Given the description of an element on the screen output the (x, y) to click on. 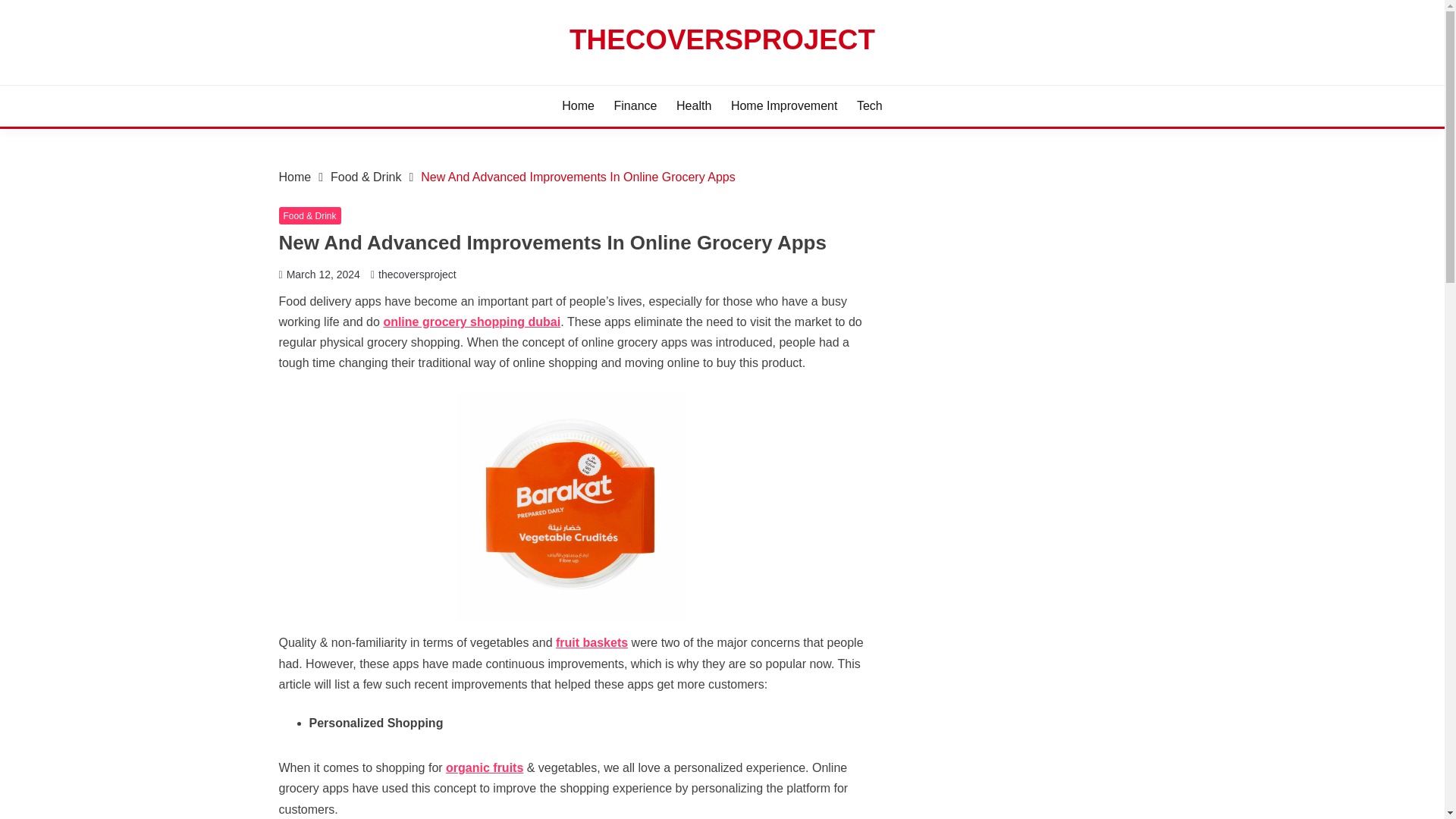
Home Improvement (784, 106)
March 12, 2024 (322, 274)
Home (295, 176)
online grocery shopping dubai (471, 321)
Tech (869, 106)
thecoversproject (417, 274)
fruit baskets (591, 642)
New And Advanced Improvements In Online Grocery Apps (577, 176)
organic fruits (483, 767)
Health (694, 106)
